Given the description of an element on the screen output the (x, y) to click on. 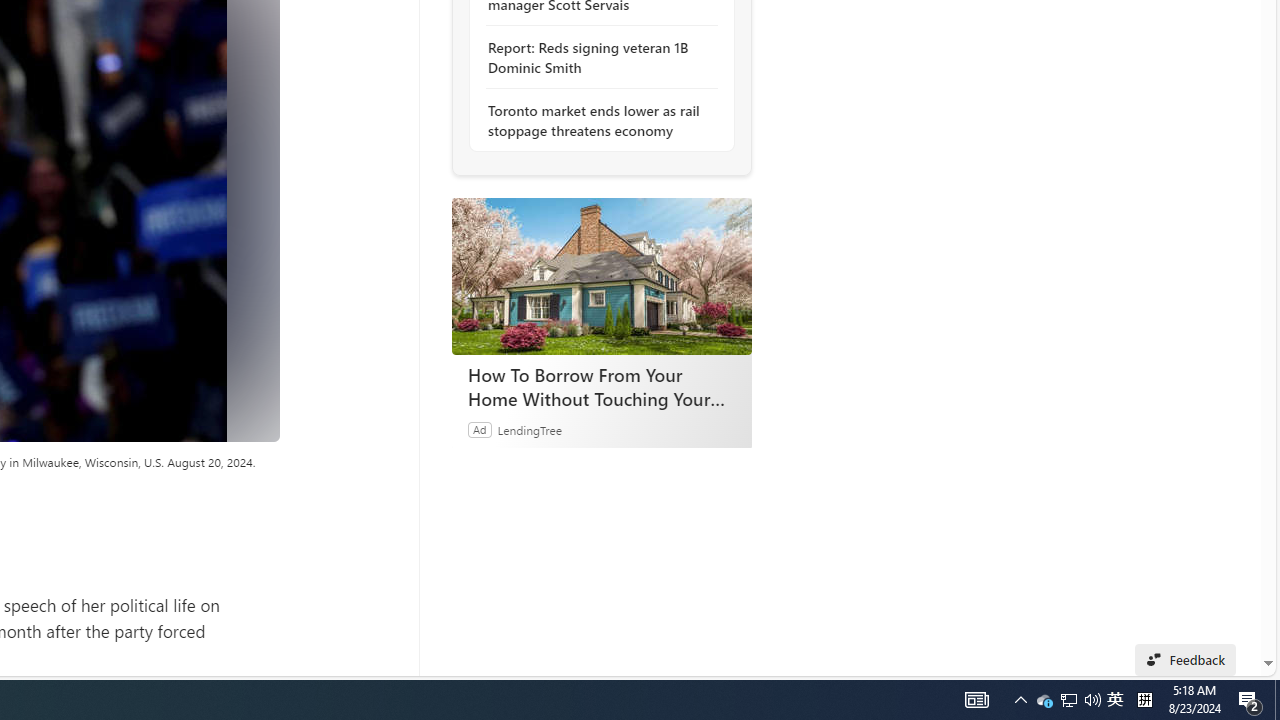
Show desktop (1277, 699)
Report: Reds signing veteran 1B Dominic Smith (596, 57)
User Promoted Notification Area (1069, 699)
Notification Chevron (1068, 699)
Q2790: 100% (1020, 699)
AutomationID: 4105 (1092, 699)
Toronto market ends lower as rail stoppage threatens economy (976, 699)
LendingTree (596, 120)
